Given the description of an element on the screen output the (x, y) to click on. 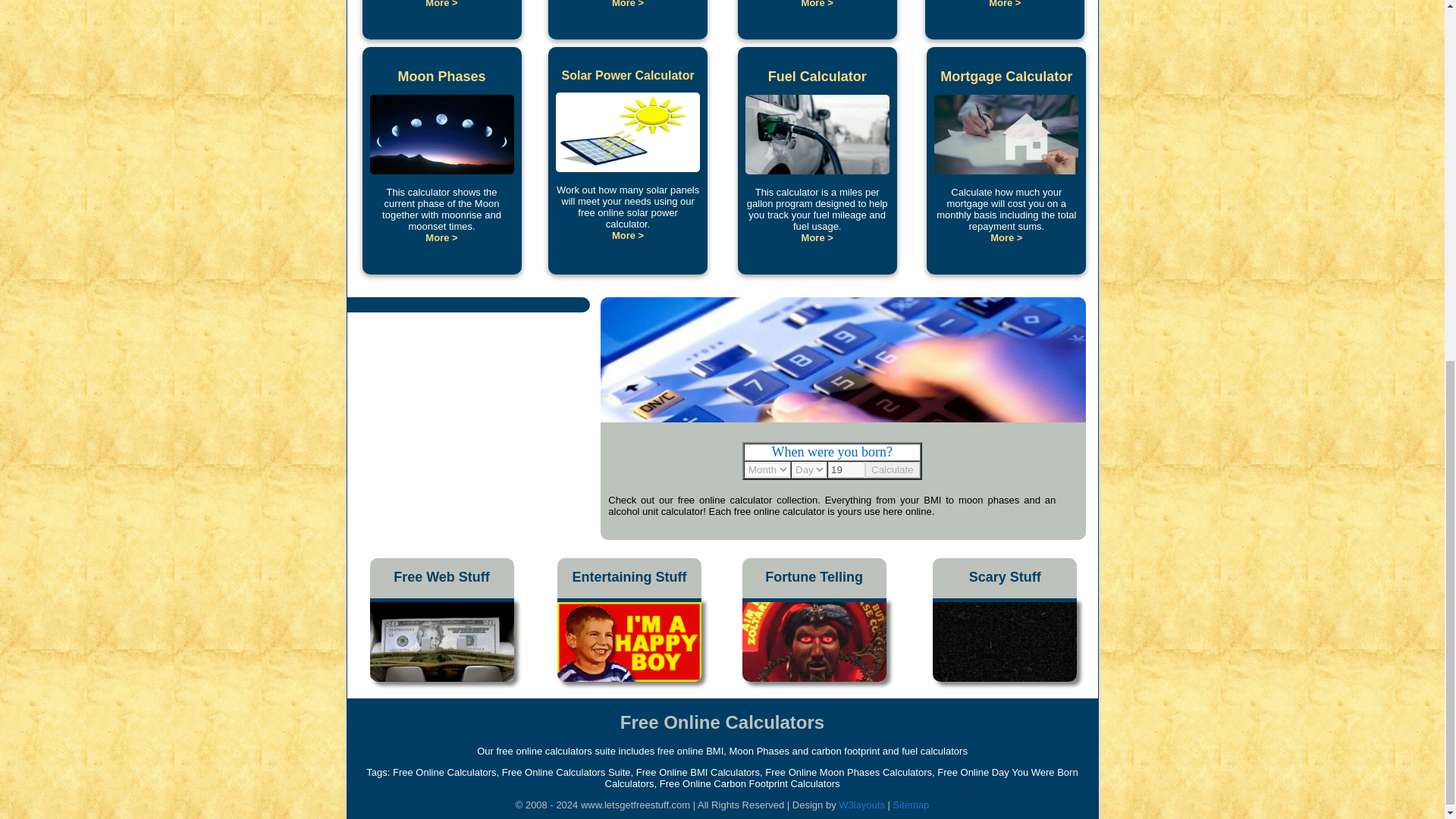
Moon Phases Calendar (440, 208)
Alcohol Chart (441, 4)
19 (846, 469)
BMI Calculator (817, 4)
Entertaining Stuff (629, 577)
Mortgage Calculator (1005, 77)
Moon Phases (440, 77)
